Given the description of an element on the screen output the (x, y) to click on. 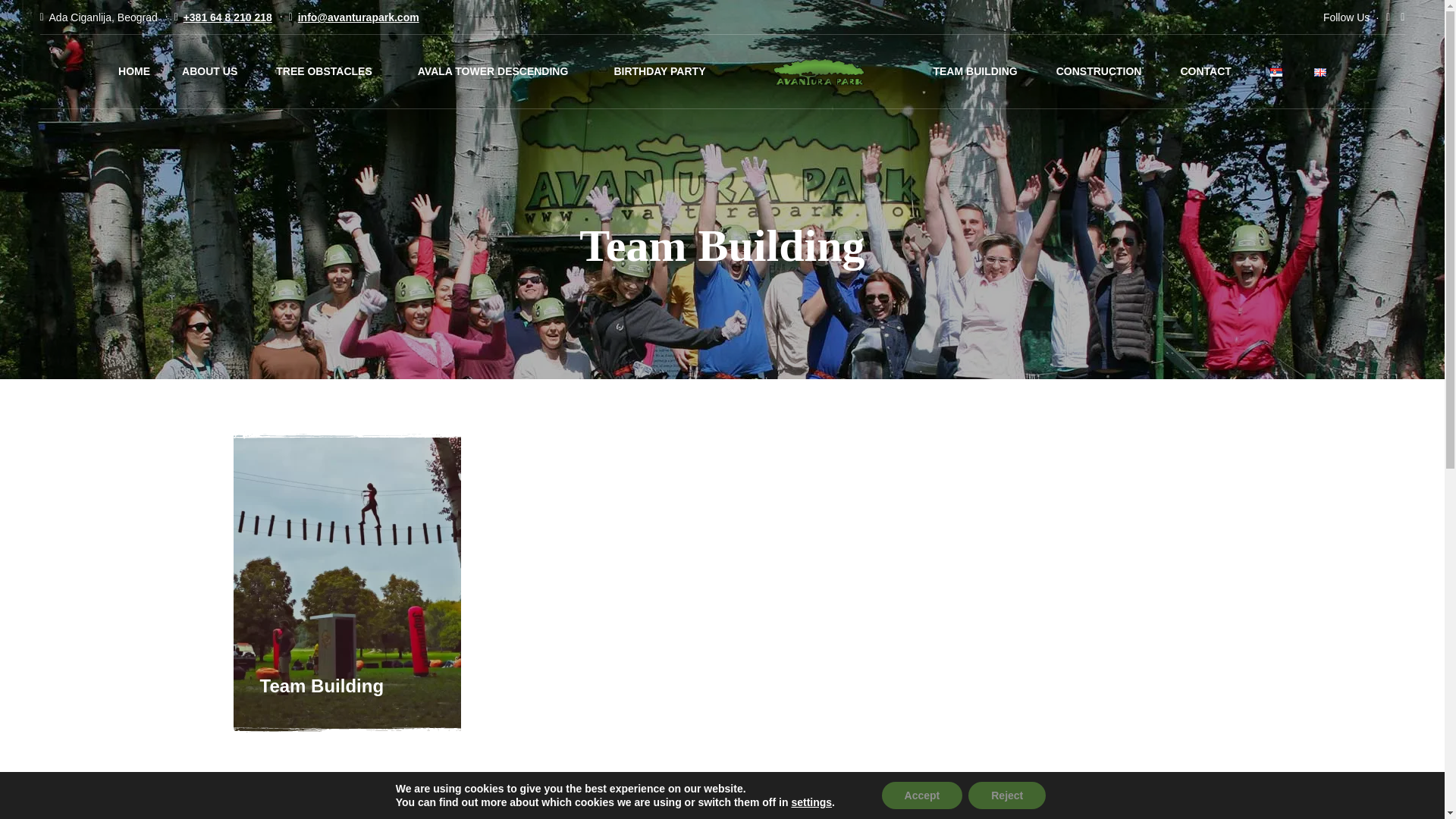
BIRTHDAY PARTY (658, 71)
CONSTRUCTION (1099, 71)
CONTACT (1204, 71)
HOME (133, 71)
TEAM BUILDING (974, 71)
TREE OBSTACLES (324, 71)
ABOUT US (209, 71)
AVALA TOWER DESCENDING (493, 71)
Team Building (321, 685)
